Given the description of an element on the screen output the (x, y) to click on. 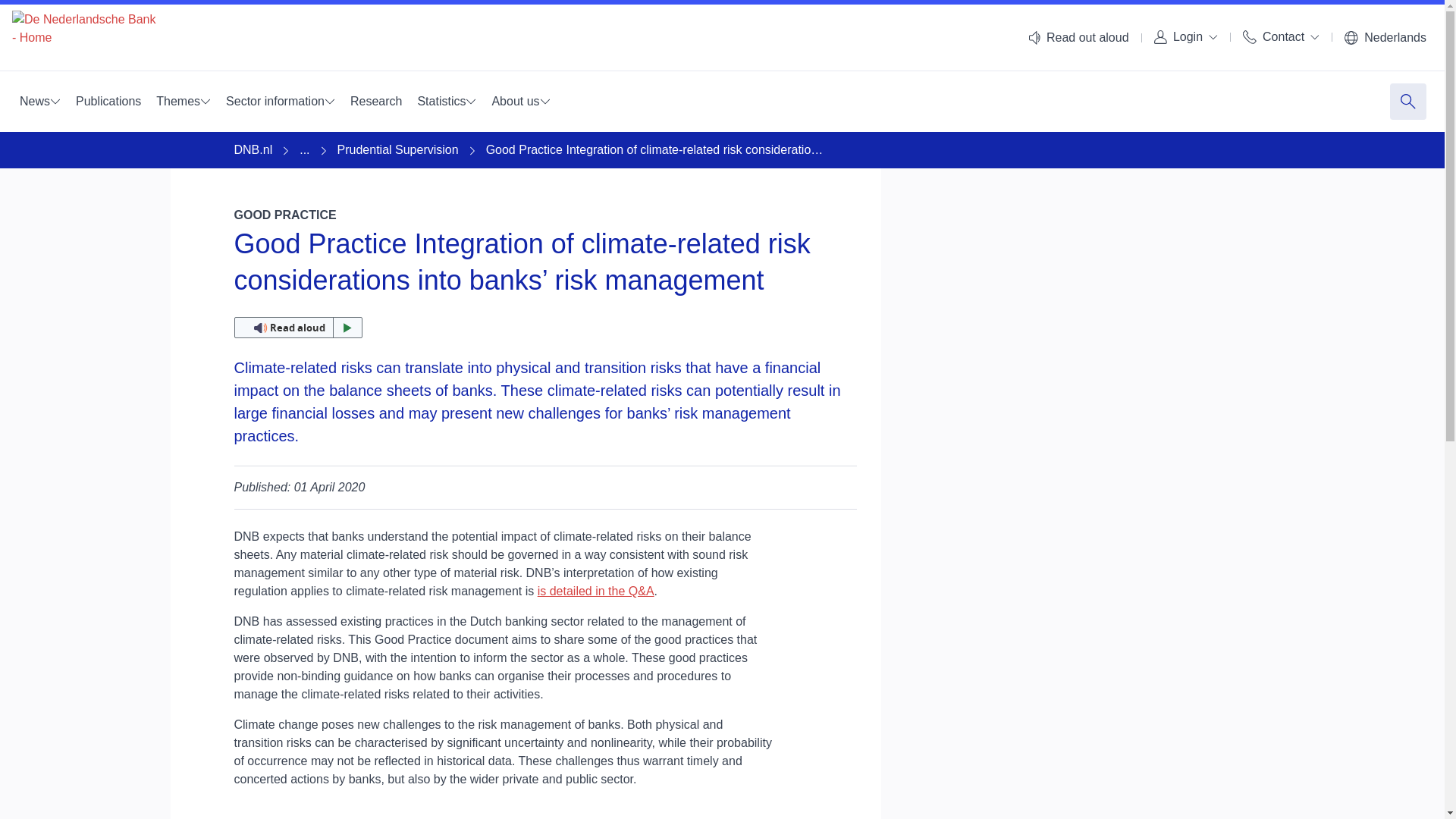
Contact (1280, 36)
Login (1186, 36)
Publications (108, 101)
Read out aloud (1078, 37)
Themes (182, 101)
Read out aloud (296, 327)
Nederlands (1385, 37)
De Nederlandsche Bank - Home (83, 37)
News (39, 101)
